Given the description of an element on the screen output the (x, y) to click on. 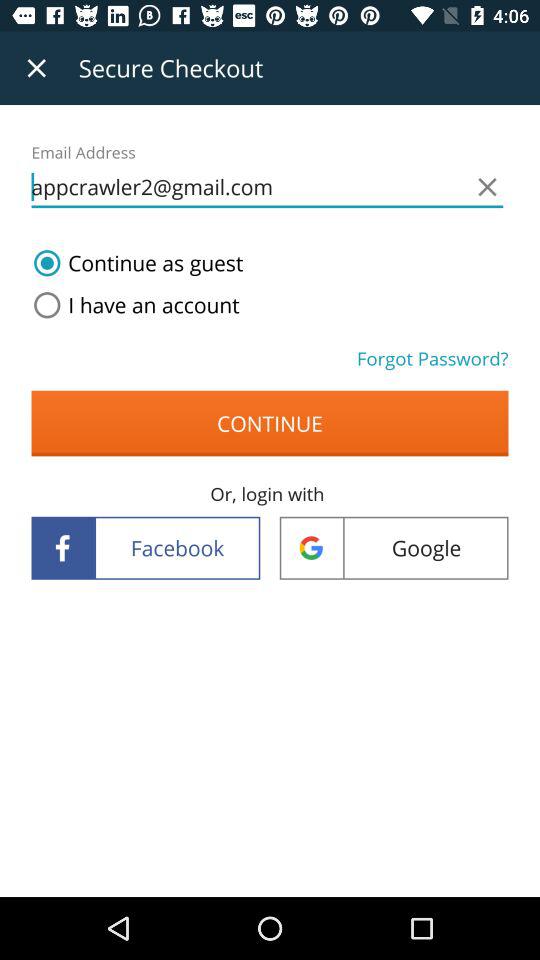
click the app next to secure checkout (36, 68)
